Given the description of an element on the screen output the (x, y) to click on. 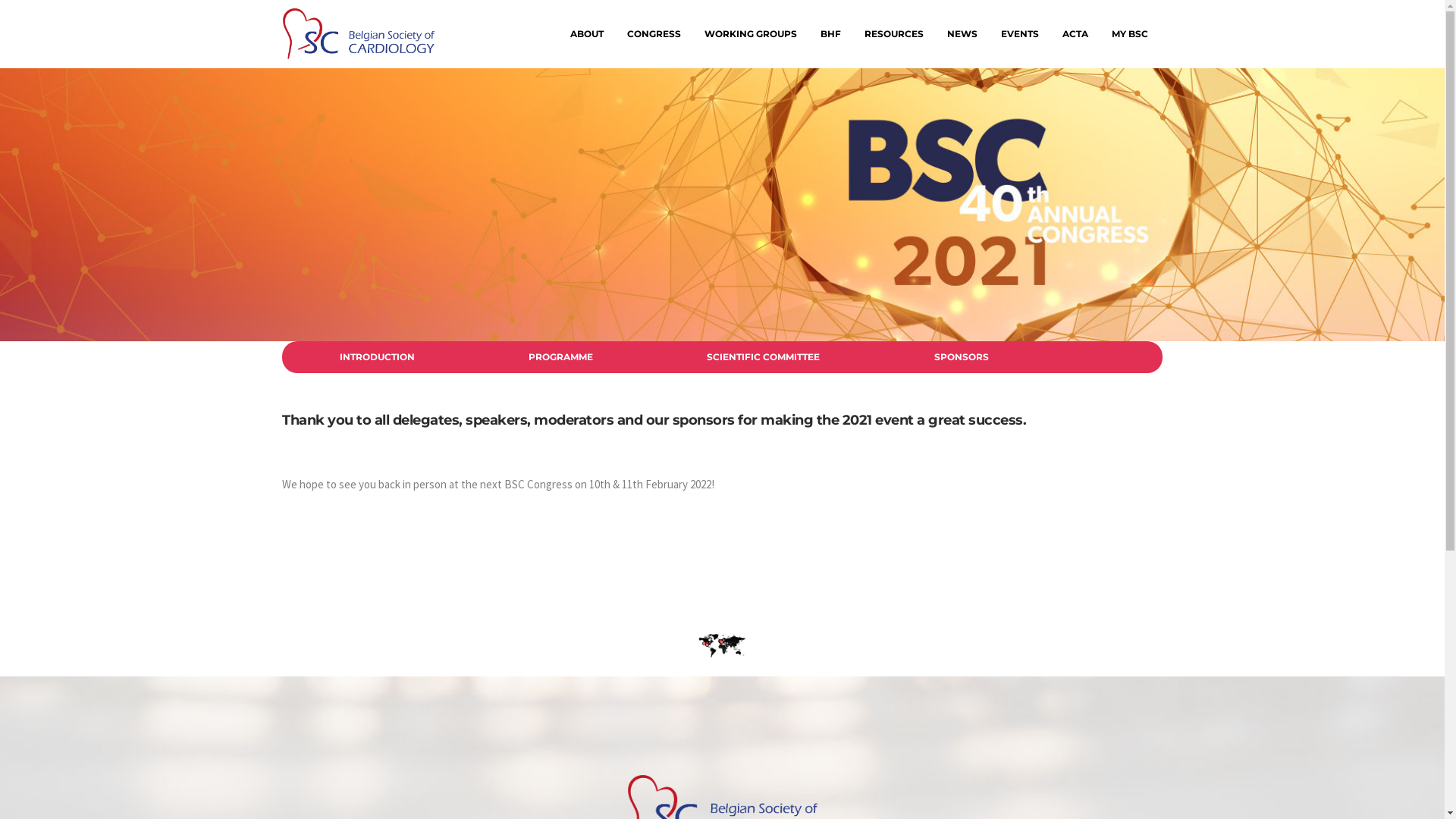
SPONSORS Element type: text (961, 356)
CONGRESS Element type: text (653, 33)
ACTA Element type: text (1075, 33)
PROGRAMME Element type: text (560, 356)
RESOURCES Element type: text (893, 33)
WORKING GROUPS Element type: text (750, 33)
ABOUT Element type: text (586, 33)
BHF Element type: text (829, 33)
NEWS Element type: text (961, 33)
EVENTS Element type: text (1018, 33)
INTRODUCTION Element type: text (376, 356)
MY BSC Element type: text (1128, 33)
SCIENTIFIC COMMITTEE Element type: text (762, 356)
